Given the description of an element on the screen output the (x, y) to click on. 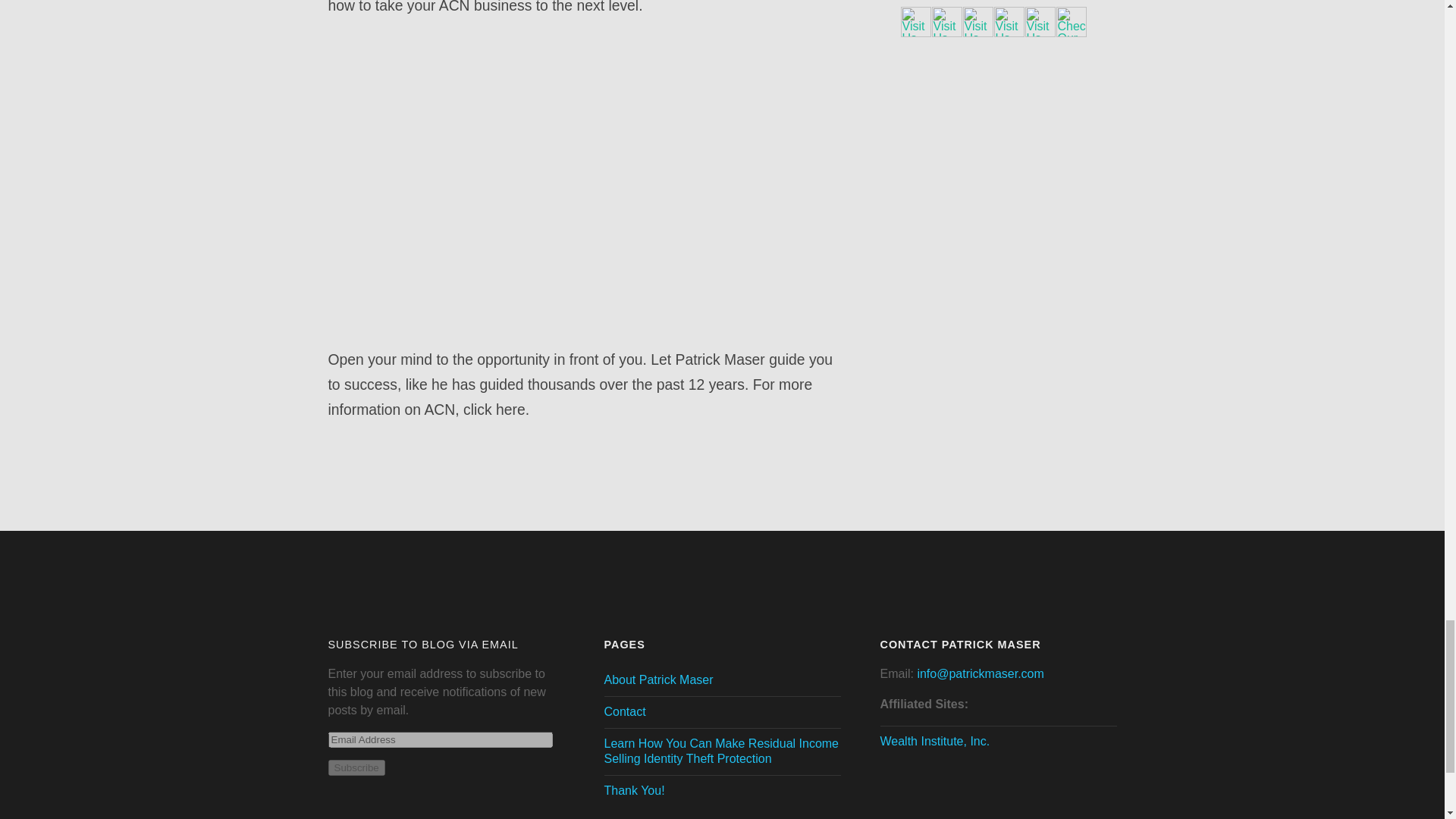
Visit Us On Twitter (976, 32)
Visit Us On Google Plus (946, 32)
Email Address (439, 739)
Visit Us On Facebook (914, 32)
Subscribe (355, 767)
